Given the description of an element on the screen output the (x, y) to click on. 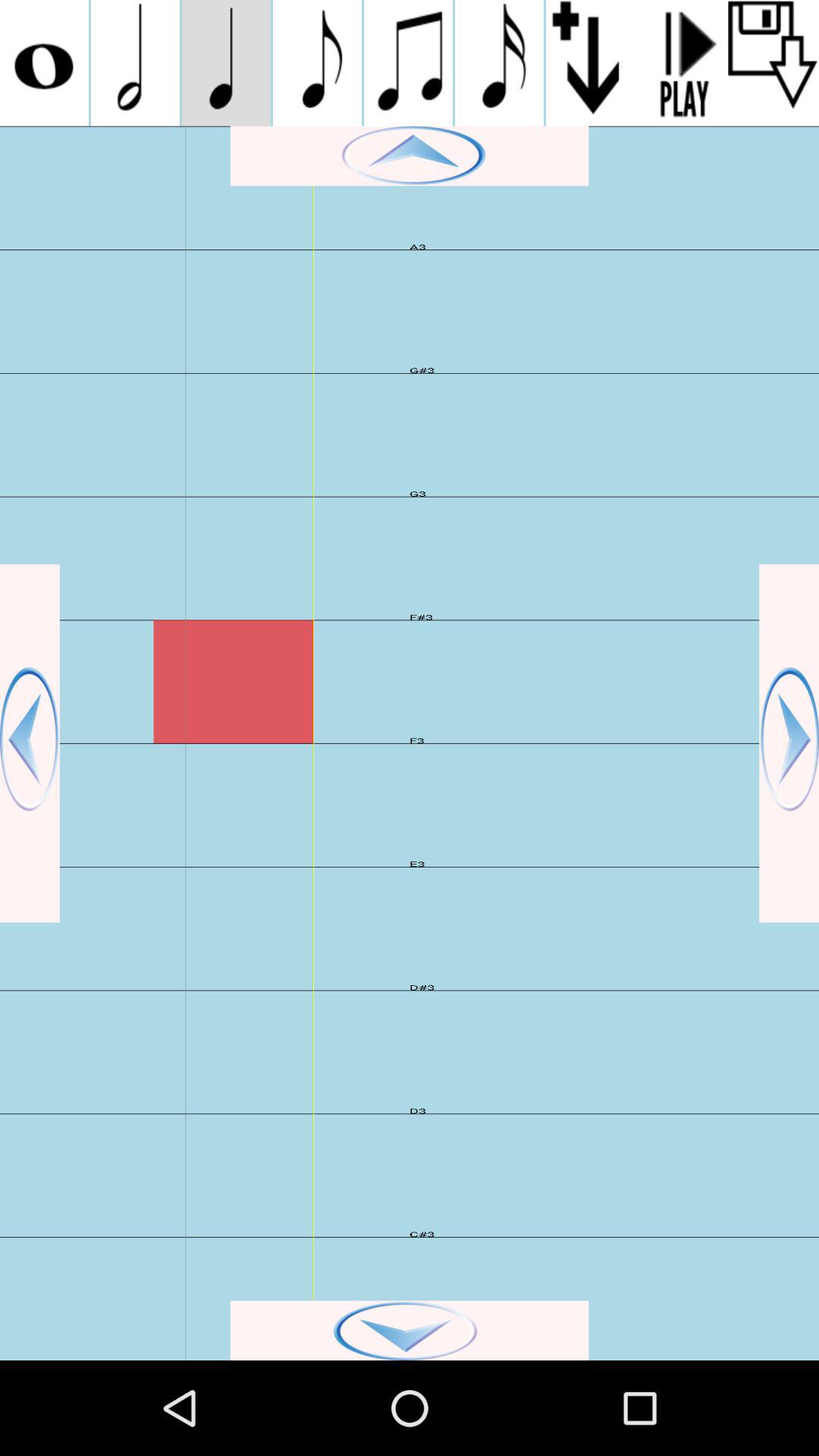
add new below (591, 63)
